Given the description of an element on the screen output the (x, y) to click on. 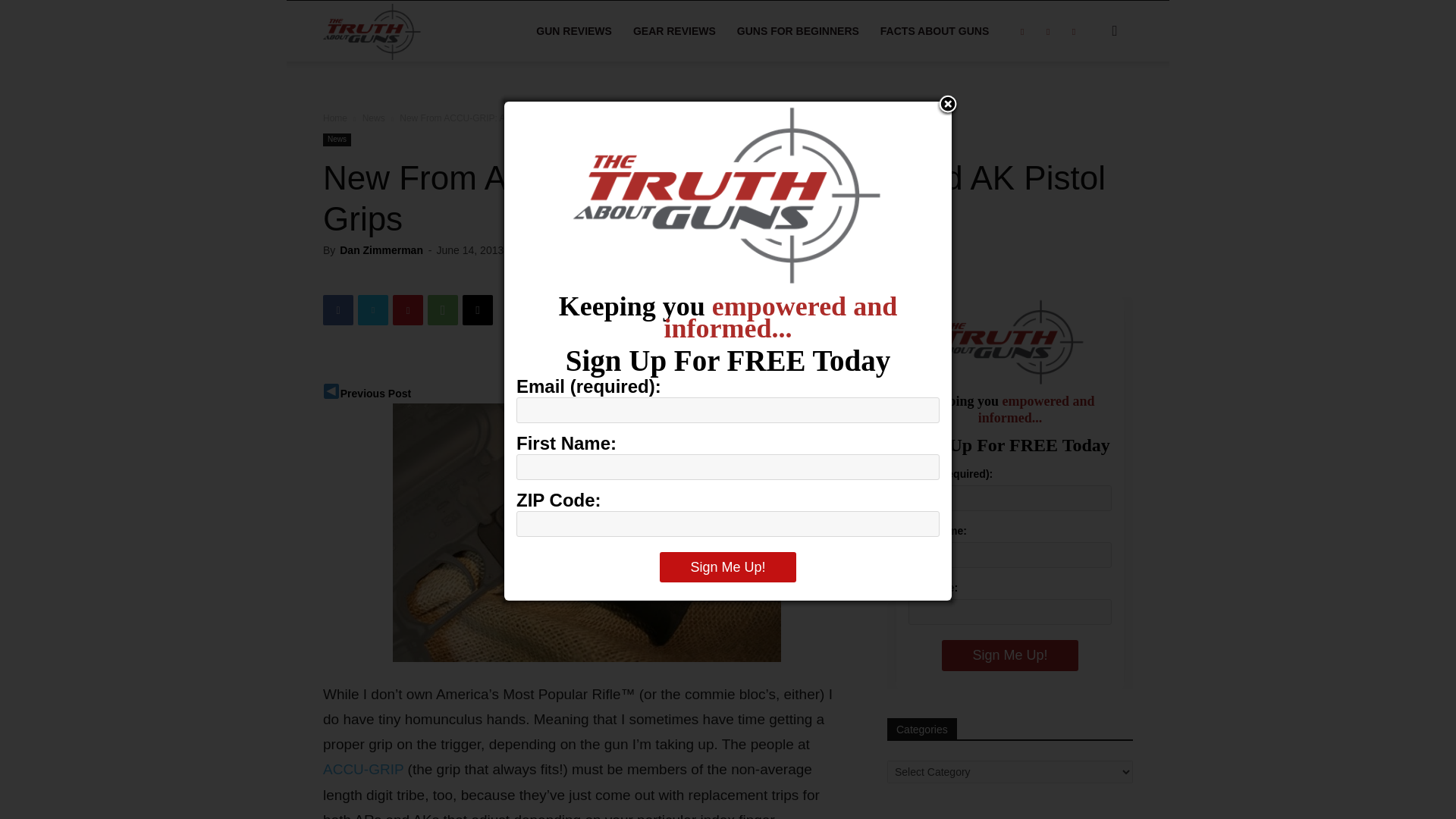
News (373, 118)
Dan Zimmerman (381, 250)
Sign Me Up! (1009, 654)
View all posts in News (373, 118)
The Truth About Guns (408, 30)
News (336, 139)
GEAR REVIEWS (674, 30)
Search (1091, 103)
GUN REVIEWS (574, 30)
GUNS FOR BEGINNERS (797, 30)
12 (528, 250)
FACTS ABOUT GUNS (933, 30)
Home (335, 118)
Daily Digest:  (375, 393)
courttesy accu-grip.net (586, 532)
